Given the description of an element on the screen output the (x, y) to click on. 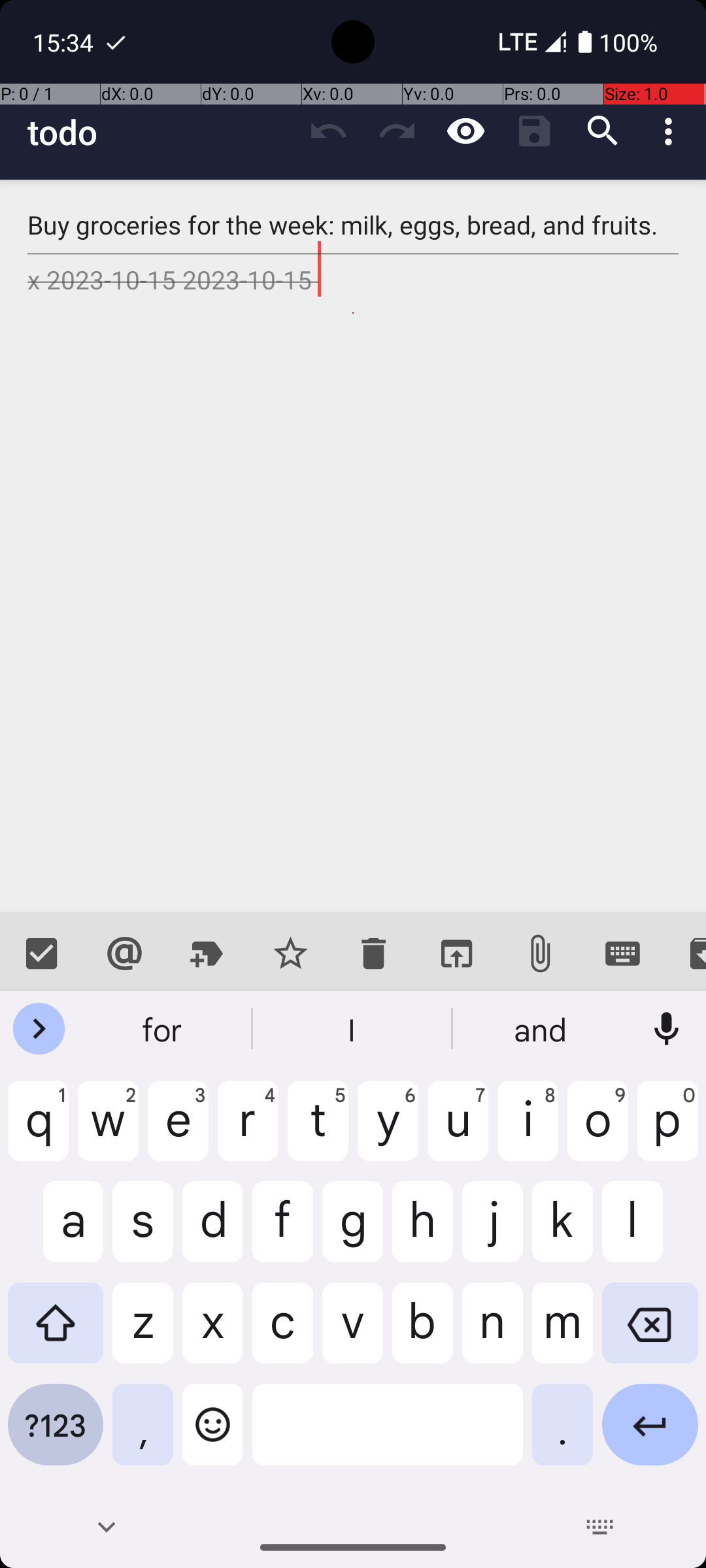
todo Element type: android.widget.TextView (160, 131)
Buy groceries for the week: milk, eggs, bread, and fruits.
x 2023-10-15 2023-10-15  Element type: android.widget.EditText (353, 545)
for Element type: android.widget.FrameLayout (163, 1028)
and Element type: android.widget.FrameLayout (541, 1028)
